Given the description of an element on the screen output the (x, y) to click on. 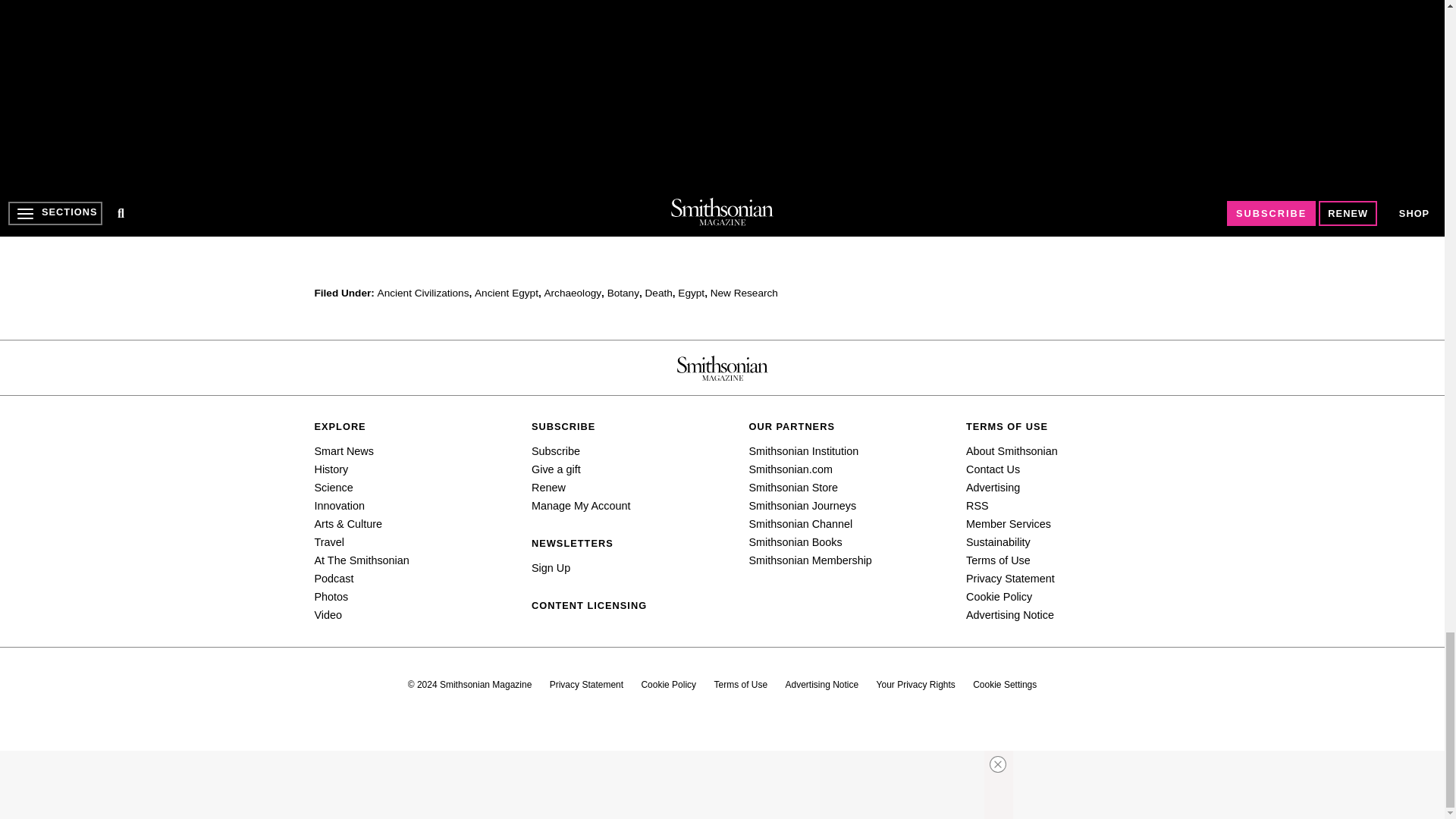
Read more from this author (435, 105)
Sign Up (740, 38)
